Given the description of an element on the screen output the (x, y) to click on. 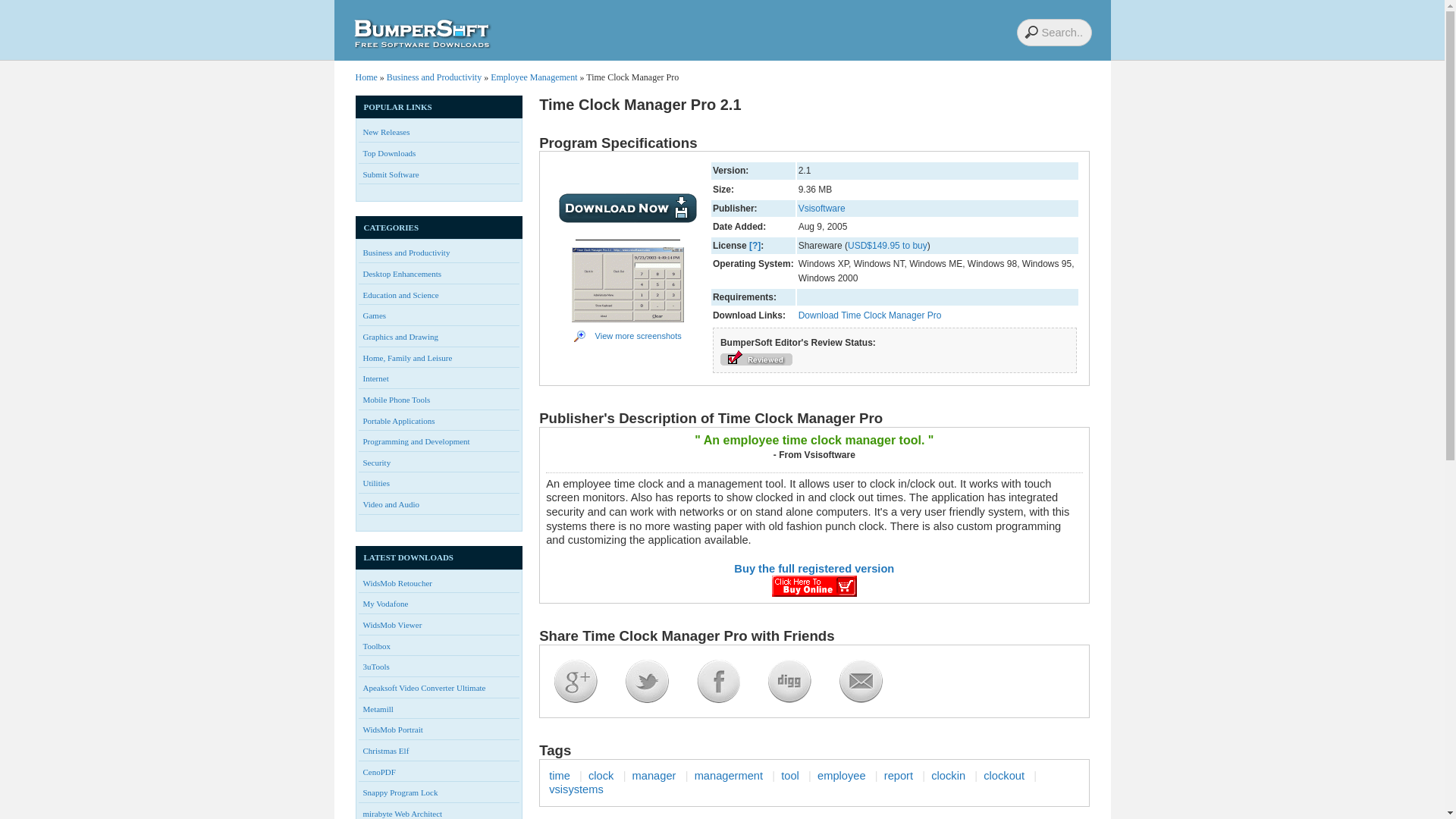
Vsisoftware (821, 208)
Facebook (718, 681)
Download Time Clock Manager Pro (869, 315)
Home (366, 77)
Digg (789, 681)
clock (600, 775)
managerment (728, 775)
tool (789, 775)
clockout (1004, 775)
time (559, 775)
